Given the description of an element on the screen output the (x, y) to click on. 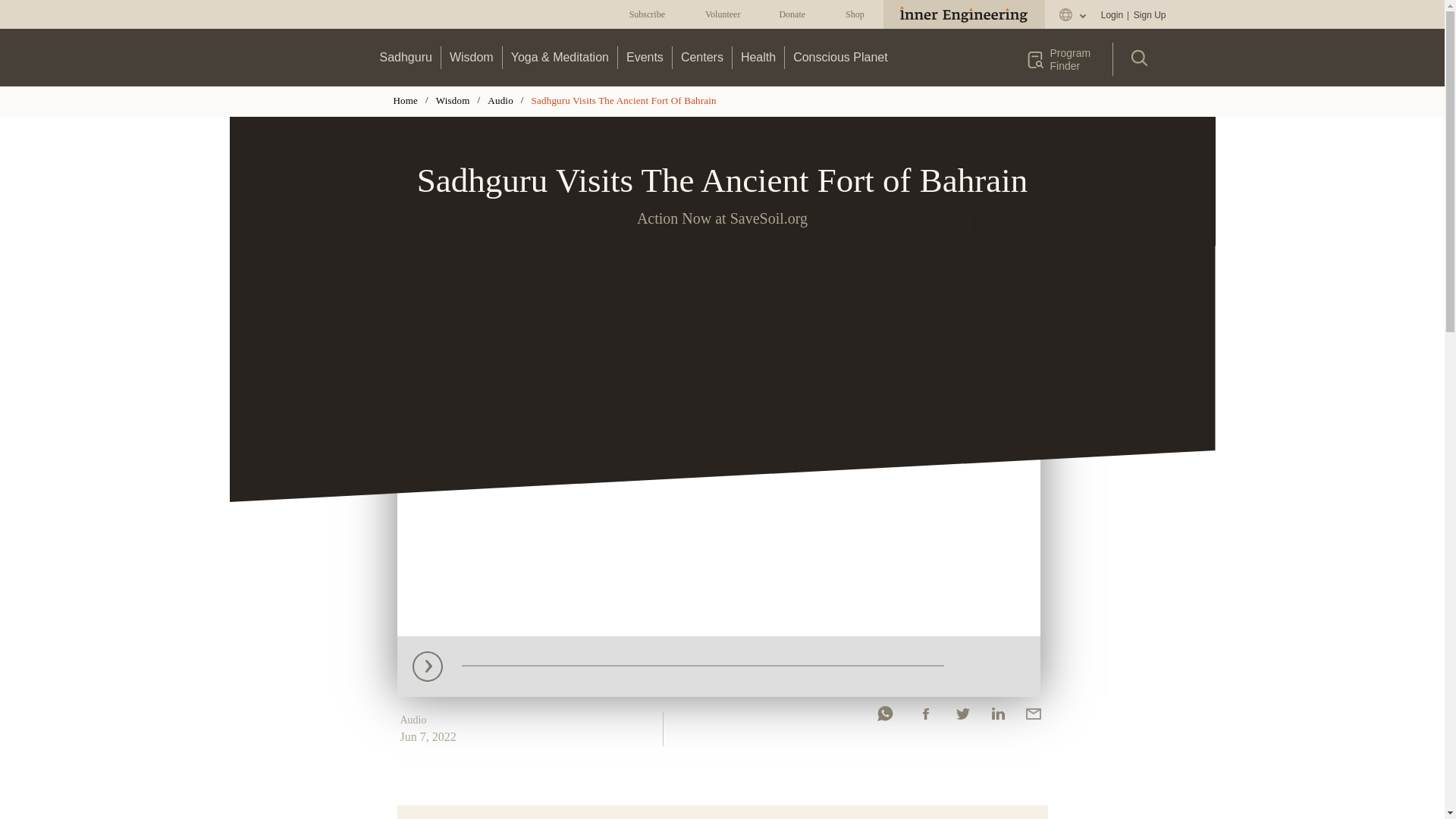
Sign Up (1149, 15)
Wisdom (471, 56)
Login (1112, 15)
Sadhguru (406, 56)
